Given the description of an element on the screen output the (x, y) to click on. 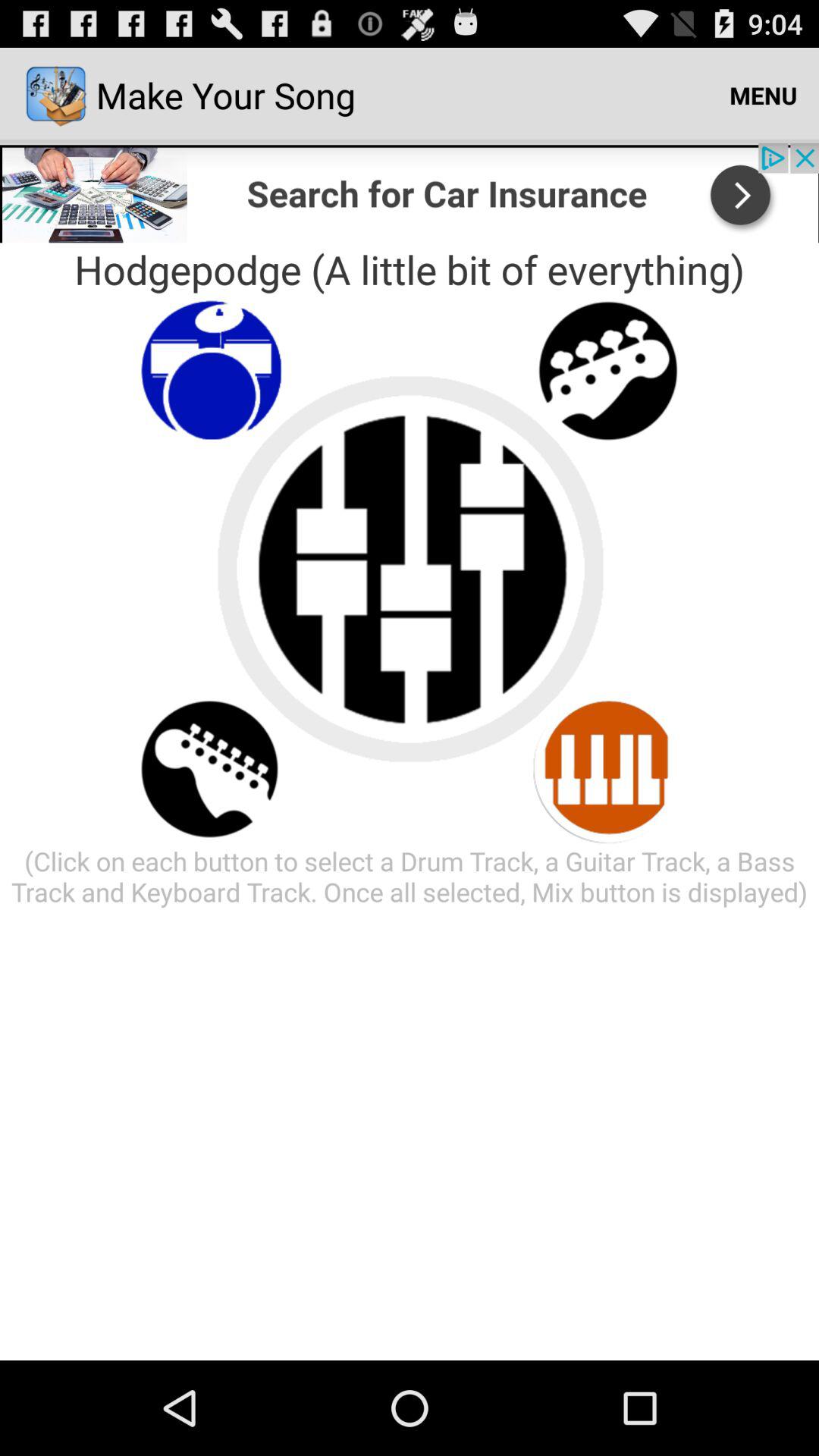
go to play (608, 768)
